Given the description of an element on the screen output the (x, y) to click on. 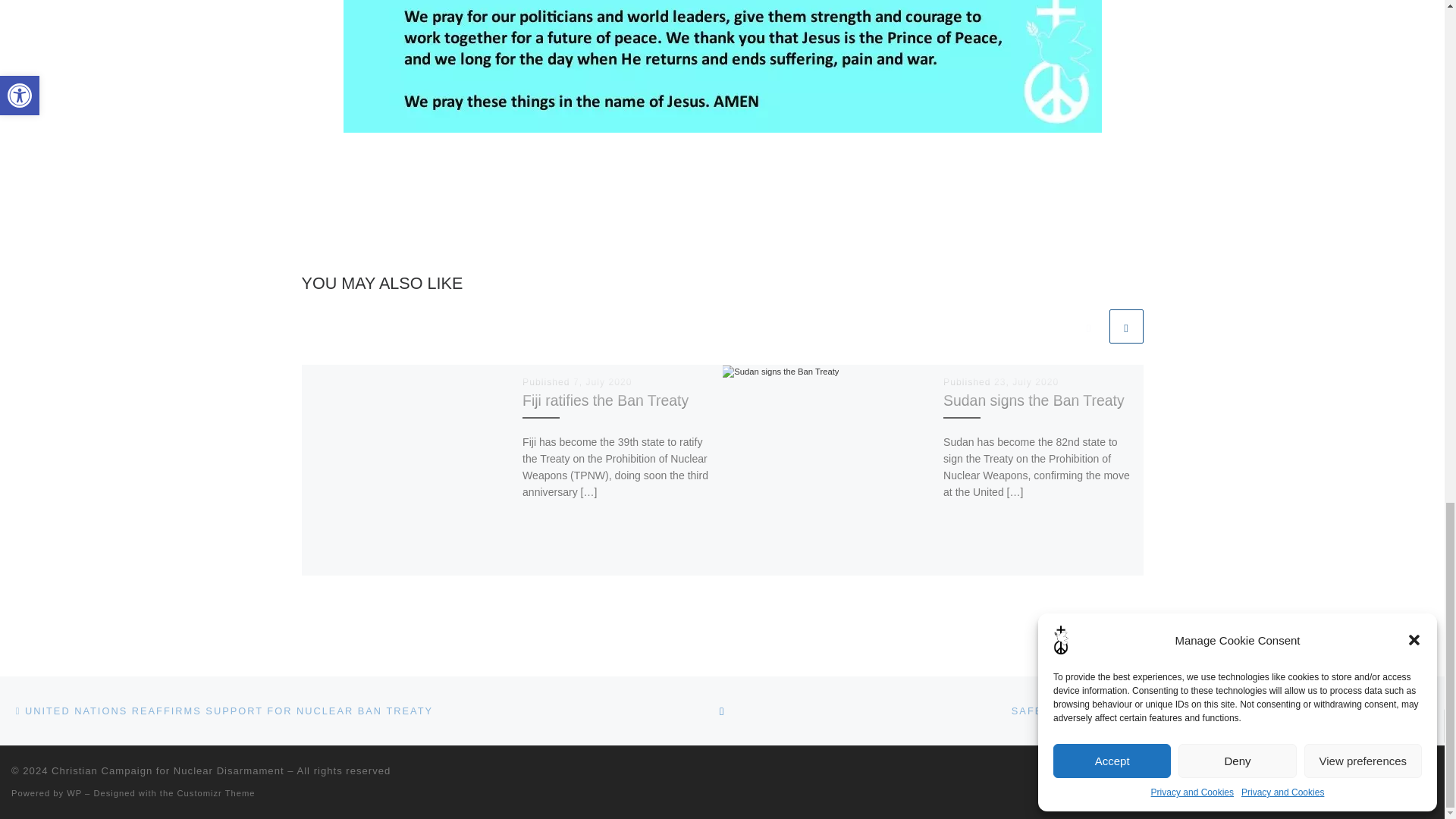
Previous related articles (1088, 326)
Powered by WordPress (73, 792)
Customizr Theme (216, 792)
Christian Campaign for Nuclear Disarmament (166, 770)
Next related articles (1125, 326)
